Given the description of an element on the screen output the (x, y) to click on. 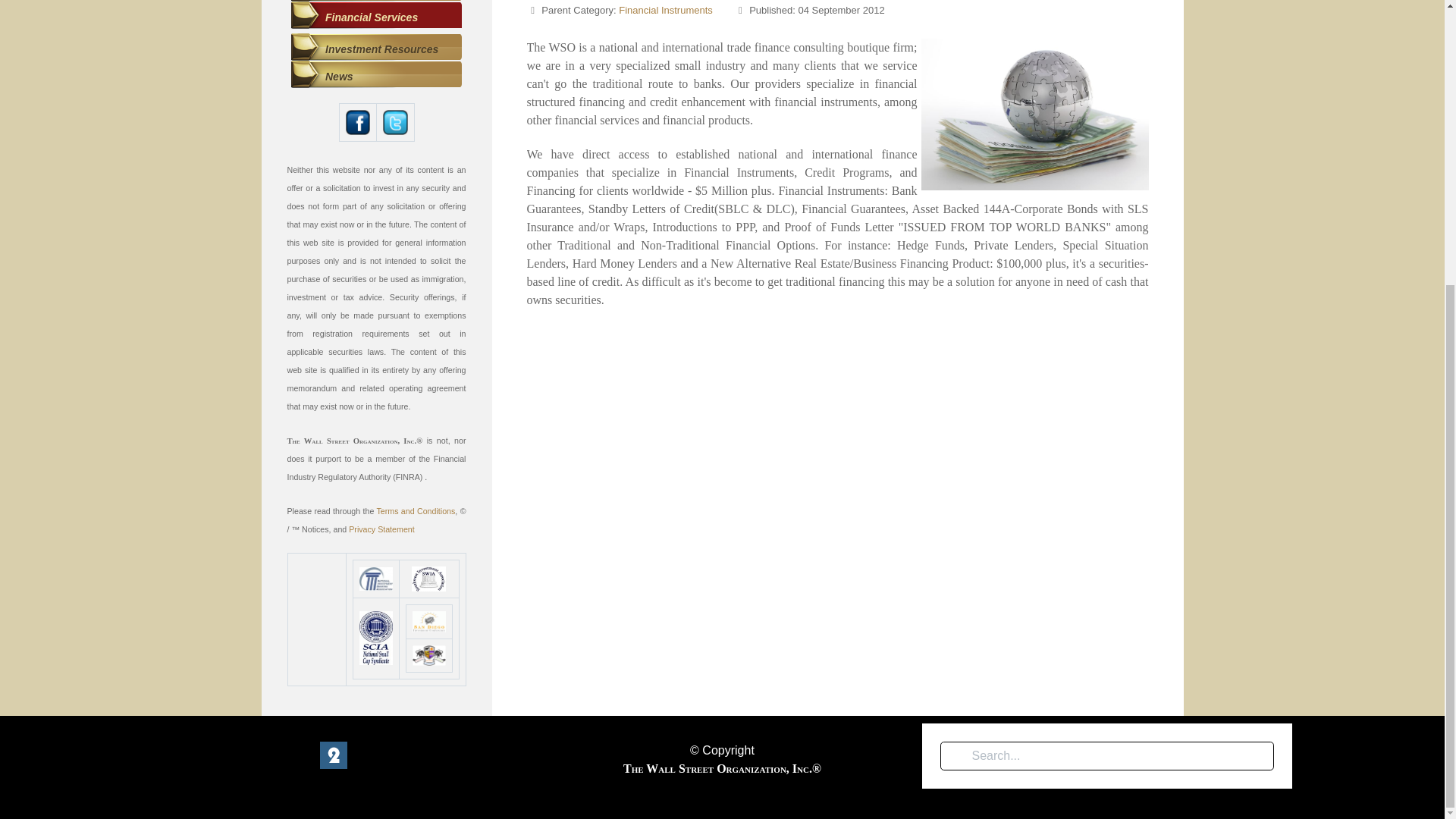
Follow WSO on Twitter (394, 121)
National Investment Banking Association (376, 579)
Terms and Conditions (416, 510)
News (376, 76)
Investment Resources (376, 49)
Wall Street Organization - Privacy Statement (381, 528)
Our Portfolio (376, 2)
Follow WSO on Facebook! (358, 121)
Southwest Investment Association (428, 578)
San Diego Investment Conference (428, 621)
